Given the description of an element on the screen output the (x, y) to click on. 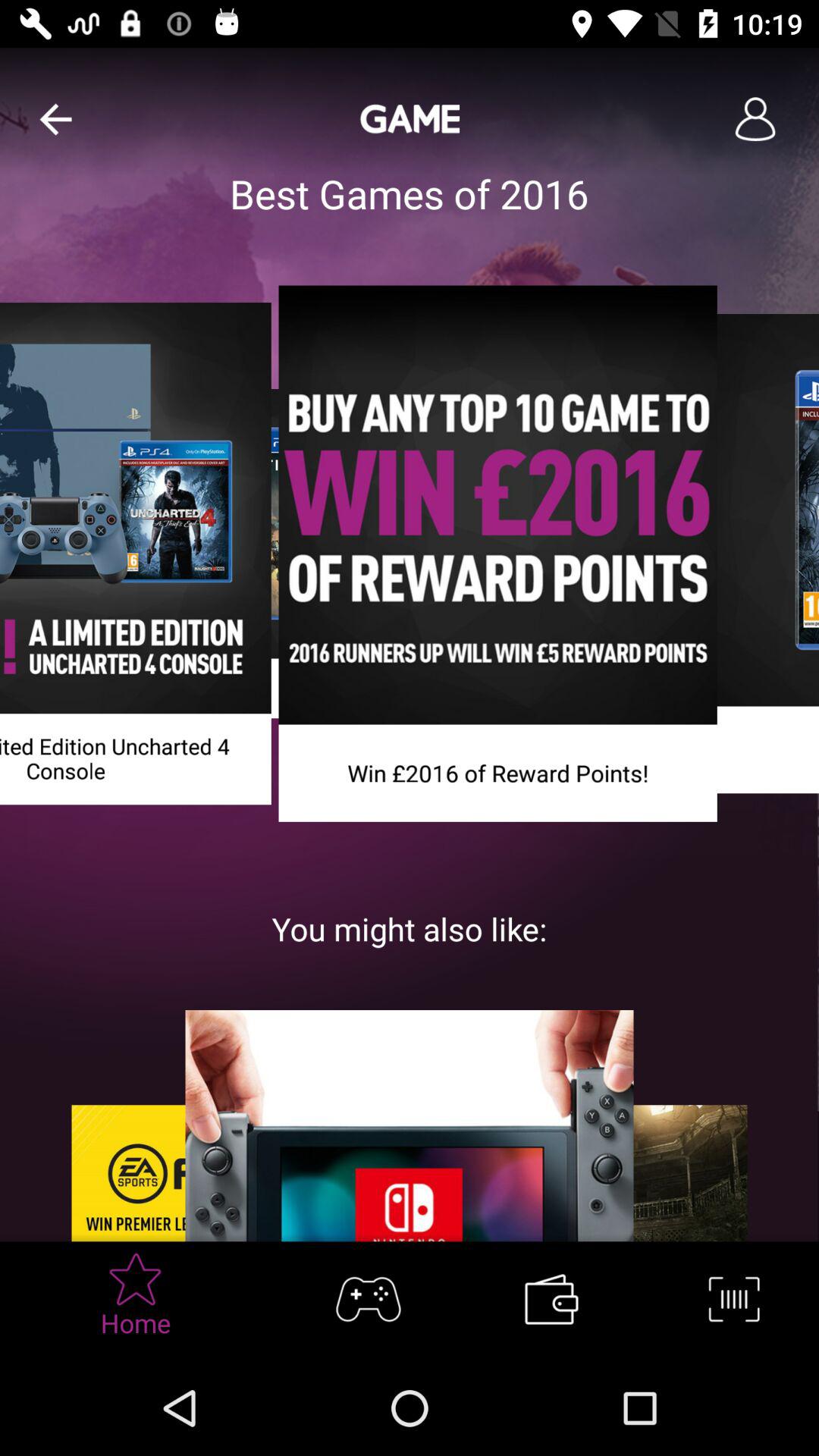
click on wallet icon at the bottom (550, 1298)
click on the profile icon which is right to the text game (754, 119)
select the text game (409, 118)
click on bar code icon (730, 1300)
